Given the description of an element on the screen output the (x, y) to click on. 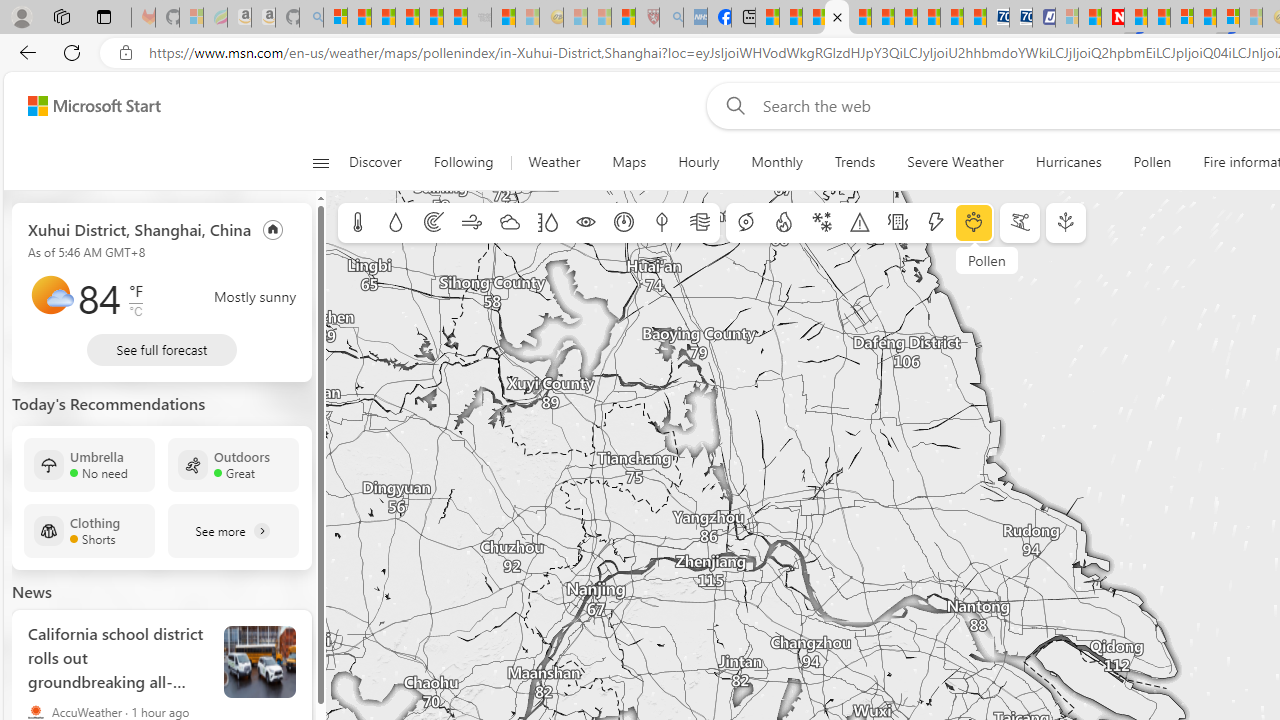
Air quality (700, 223)
New Report Confirms 2023 Was Record Hot | Watch (430, 17)
Cheap Car Rentals - Save70.com (997, 17)
Latest Politics News & Archive | Newsweek.com (1112, 17)
Lightning (935, 223)
Monthly (776, 162)
Hourly (698, 162)
Trends (854, 162)
Set as primary location (273, 228)
Wind (472, 223)
